Given the description of an element on the screen output the (x, y) to click on. 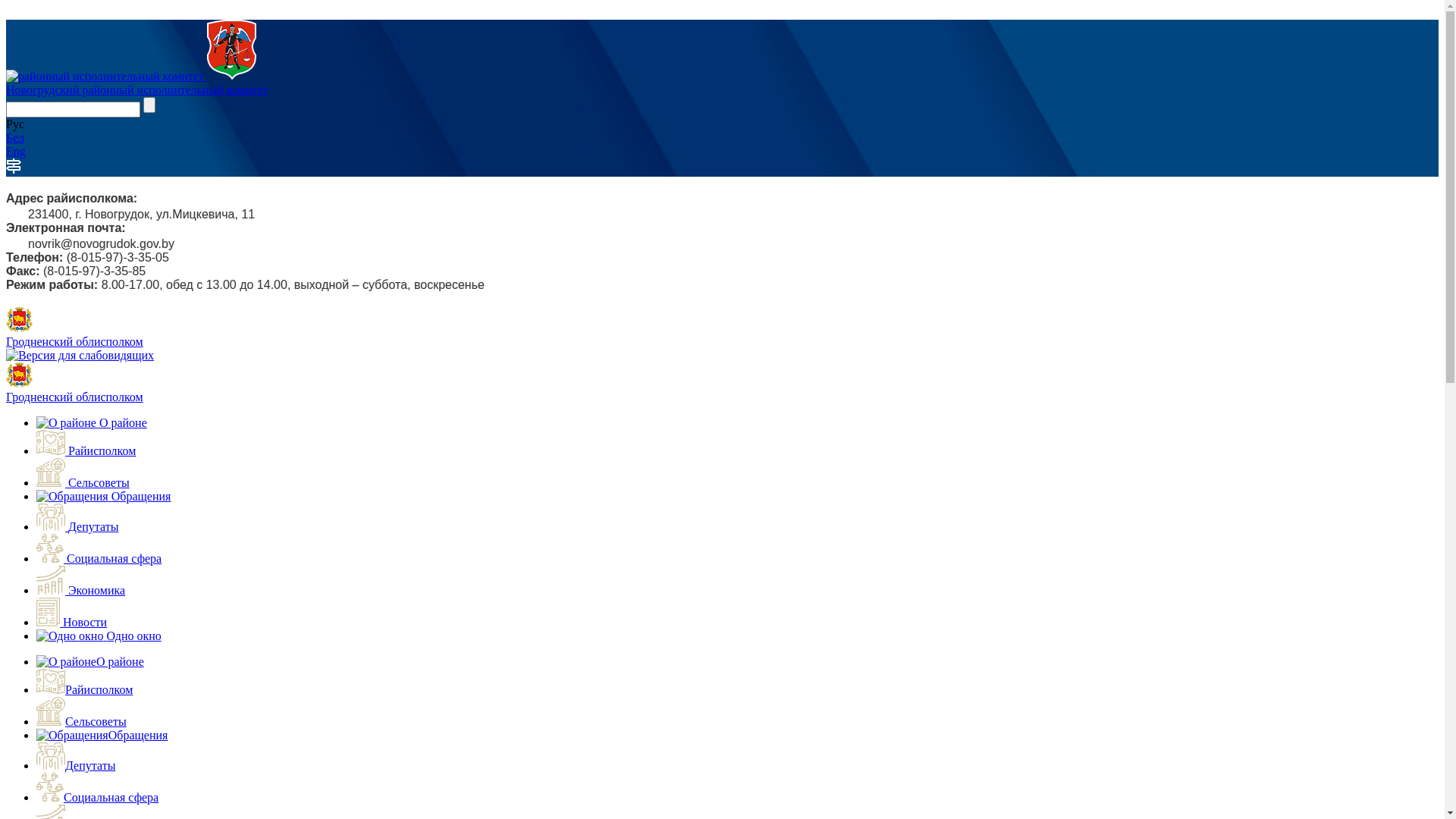
Eng Element type: text (15, 150)
